Given the description of an element on the screen output the (x, y) to click on. 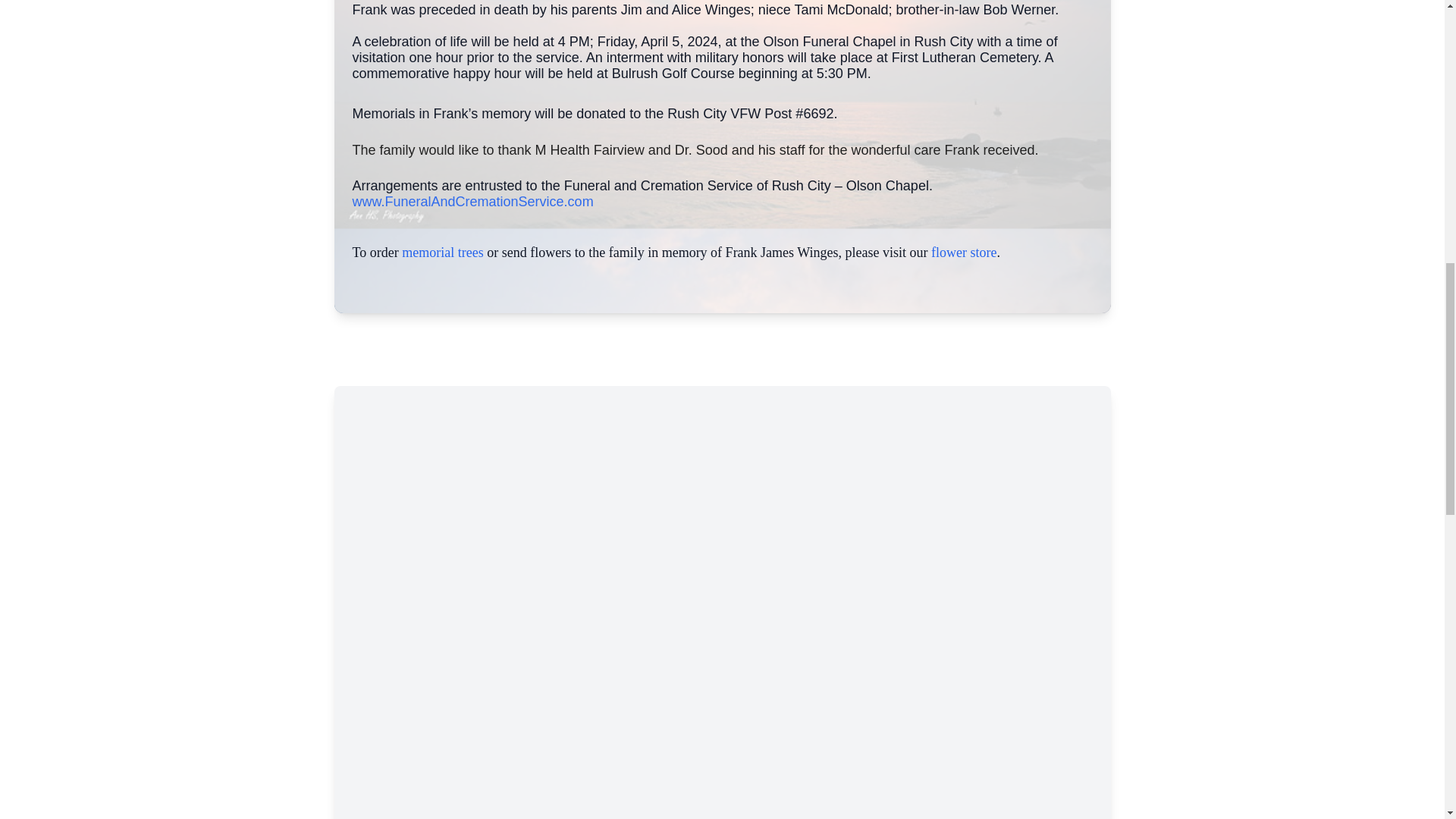
www.FuneralAndCremationService.com (472, 201)
memorial trees (442, 252)
flower store (963, 252)
